Given the description of an element on the screen output the (x, y) to click on. 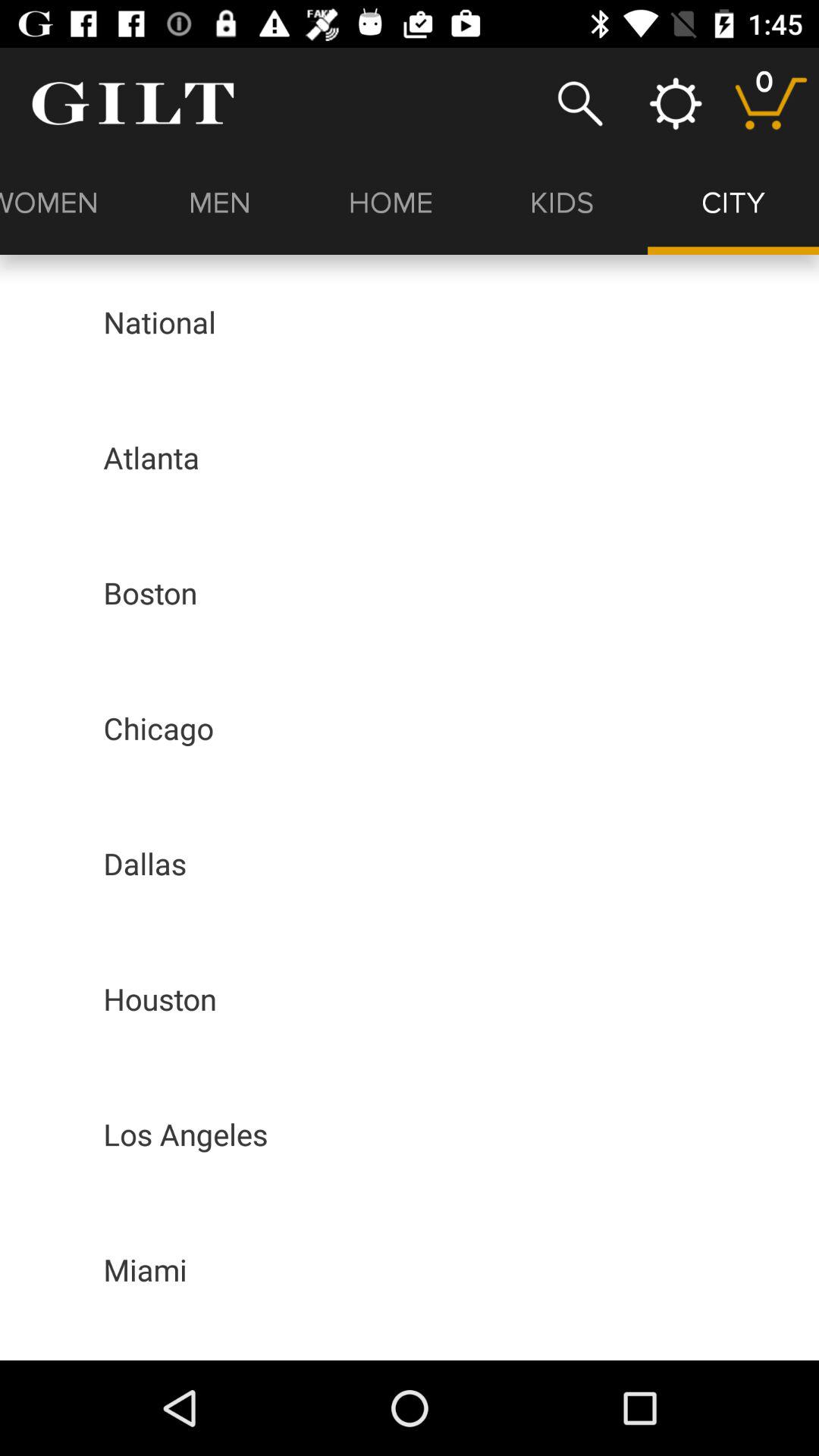
select app below the national (151, 457)
